Given the description of an element on the screen output the (x, y) to click on. 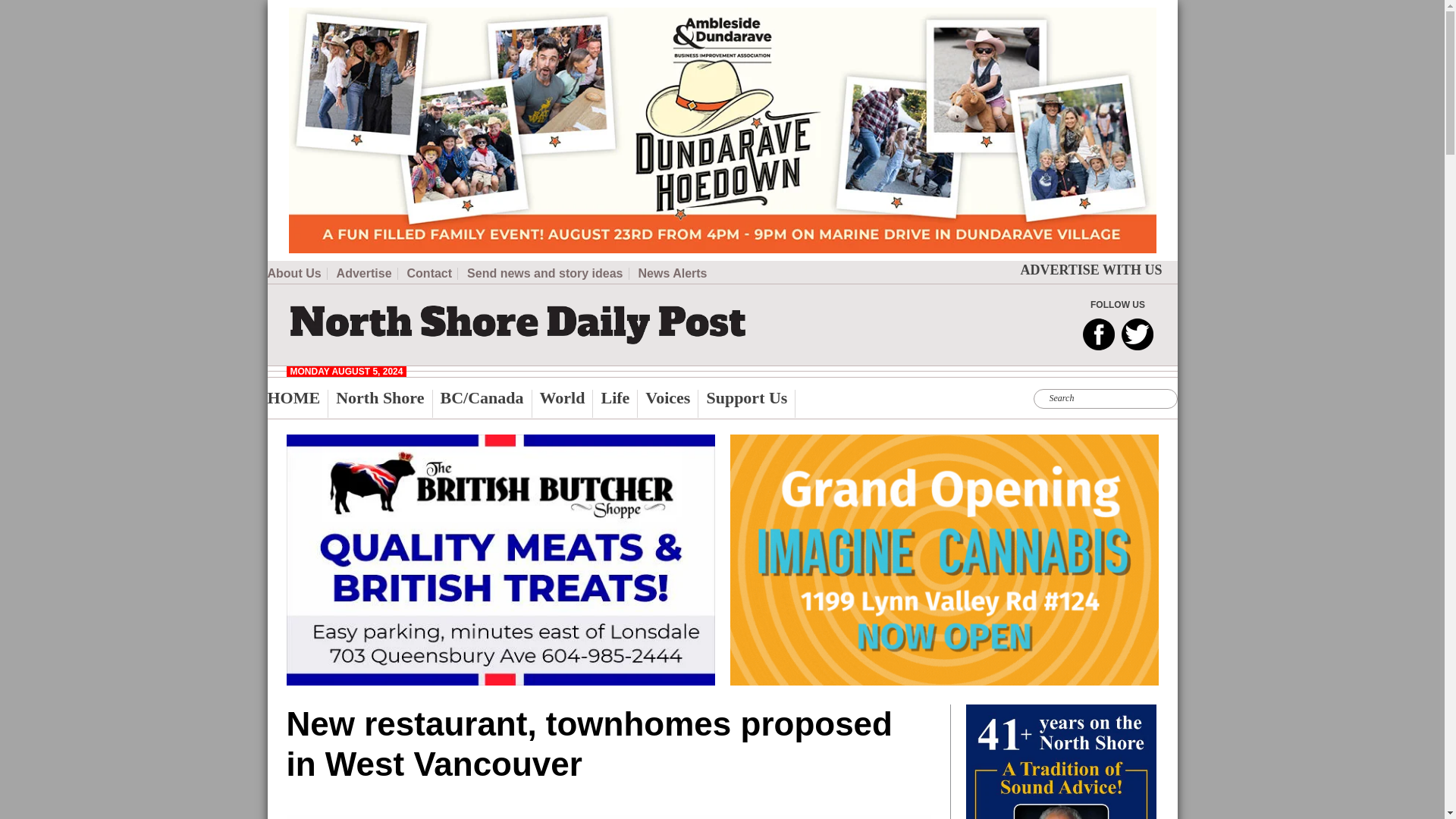
Voices (671, 403)
North Shore (384, 403)
Advertise (366, 273)
Support Us (750, 403)
Life (618, 403)
Search (455, 9)
About Us (296, 273)
ADVERTISE WITH US (1090, 270)
Contact (432, 273)
HOME (297, 403)
Send news and story ideas (547, 273)
World (567, 403)
News Alerts (673, 273)
